Given the description of an element on the screen output the (x, y) to click on. 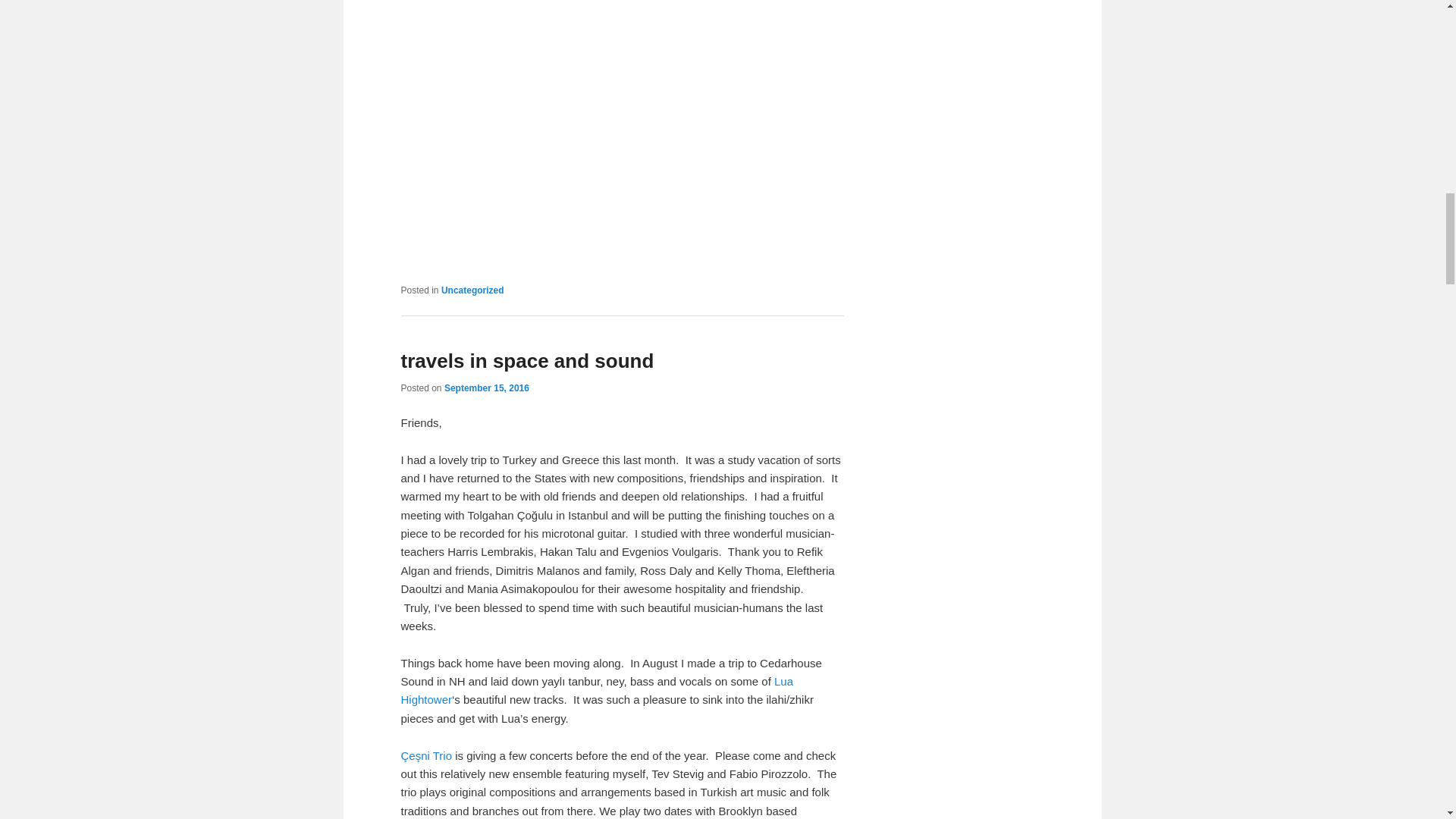
September 15, 2016 (486, 388)
6:34 PM (486, 388)
travels in space and sound (526, 360)
Uncategorized (472, 290)
Lua Hightower (596, 689)
